Given the description of an element on the screen output the (x, y) to click on. 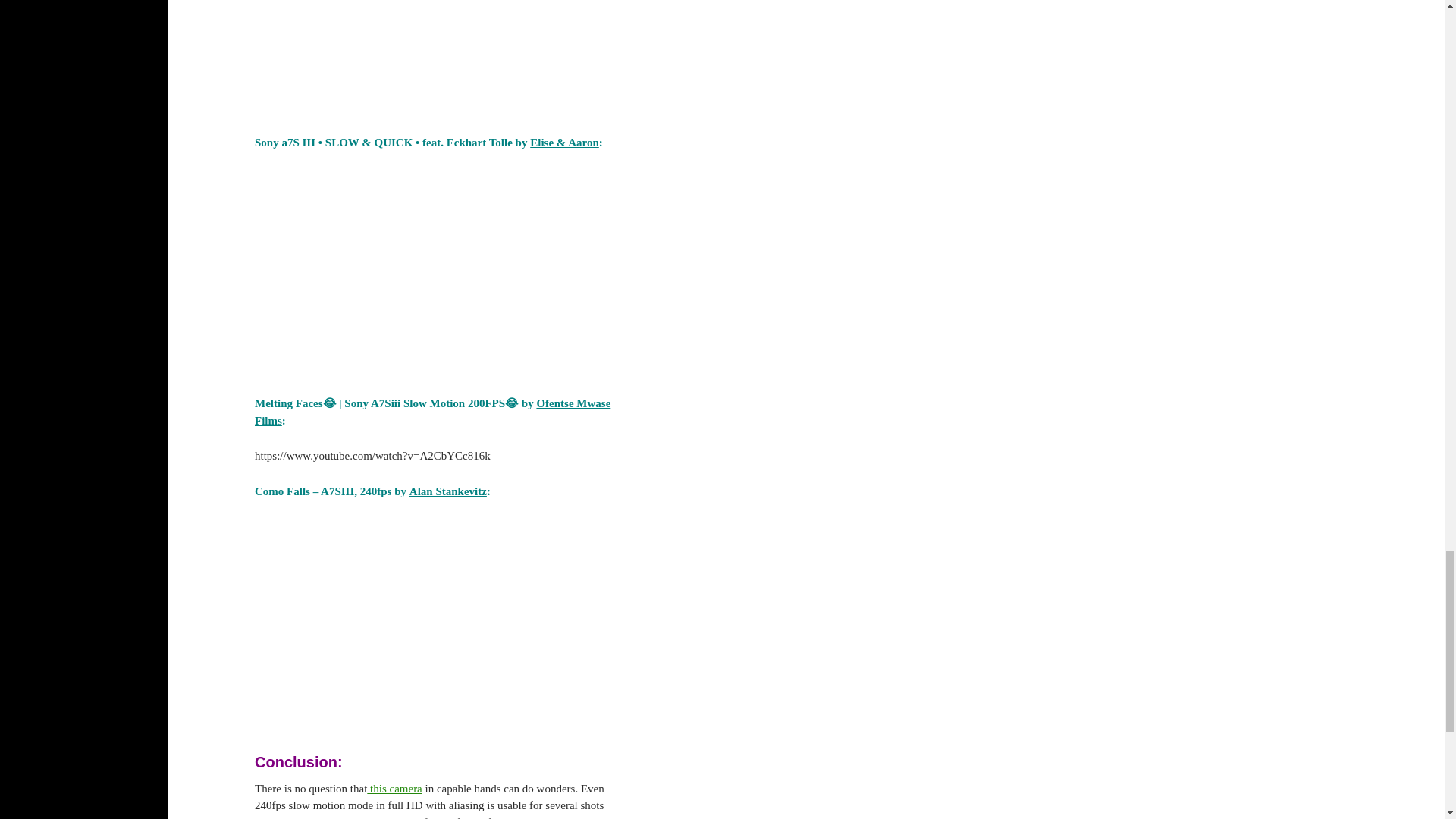
Ofentse Mwase Films (432, 411)
this camera (394, 788)
Sony A7S 3 in 2024 for Video and Photography (434, 55)
Alan Stankevitz (447, 491)
Como Falls - A7SIII, 240fps (434, 618)
